Given the description of an element on the screen output the (x, y) to click on. 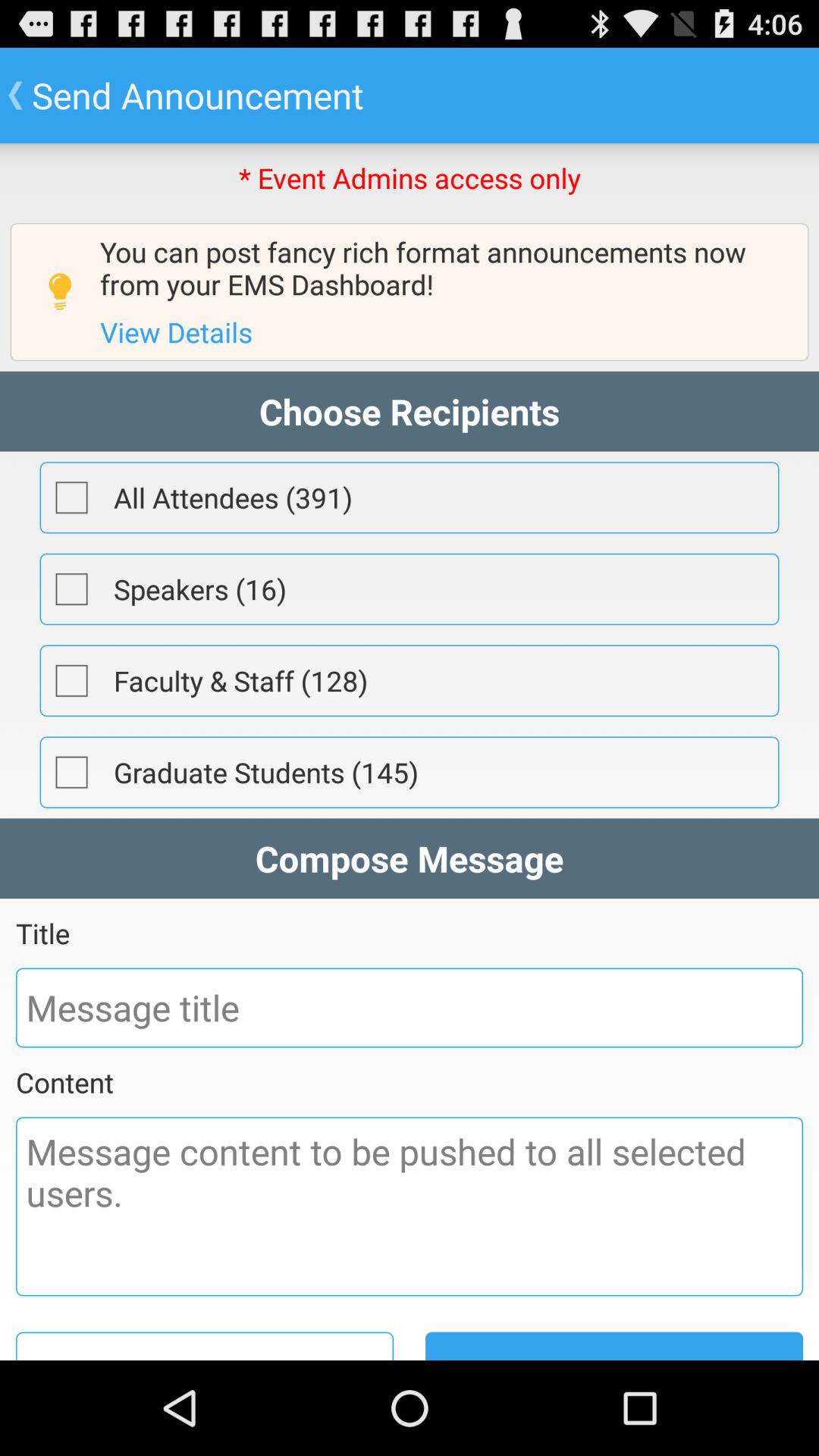
launch icon to the left of send (204, 1346)
